Given the description of an element on the screen output the (x, y) to click on. 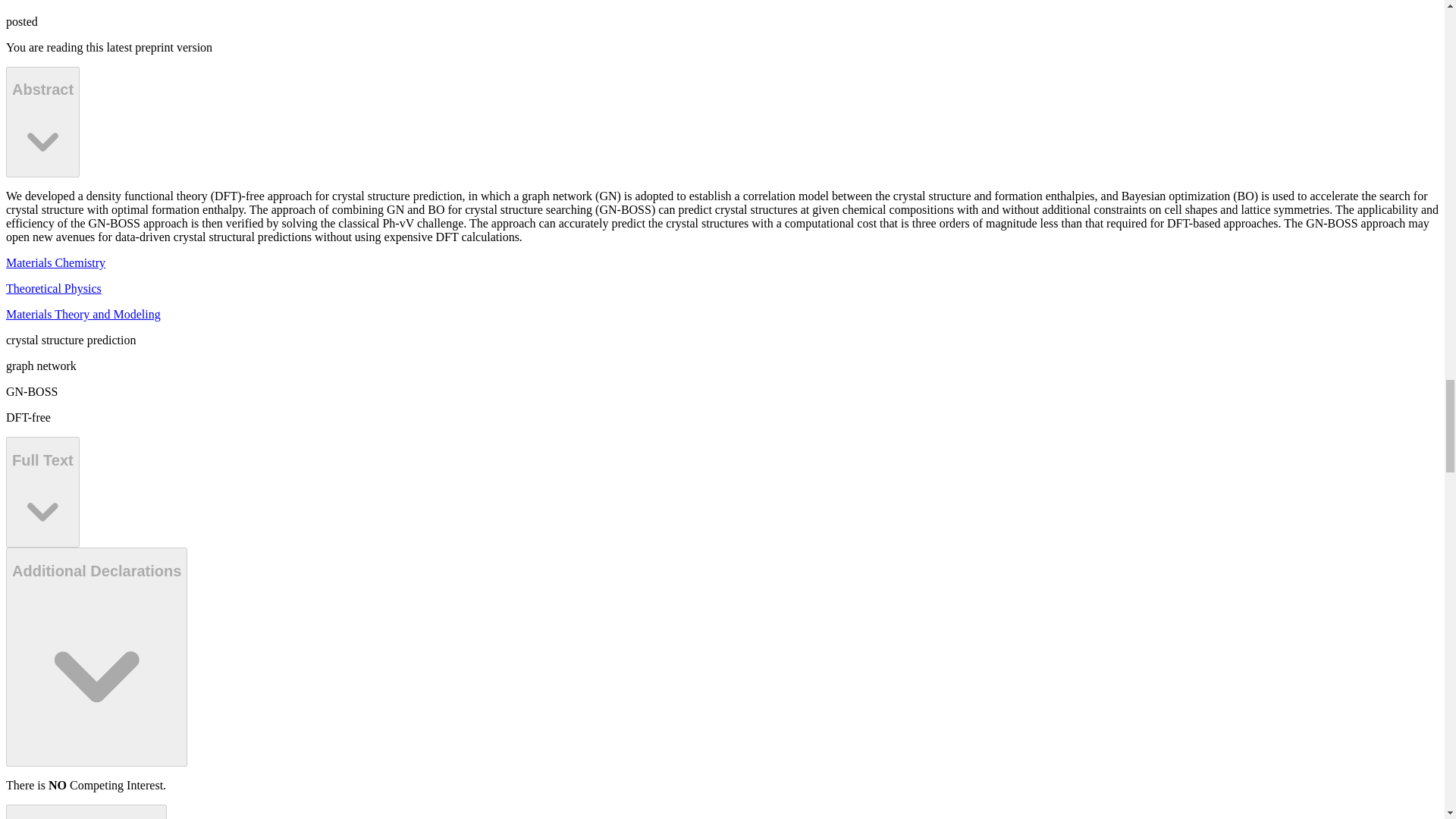
Supplementary Files (86, 811)
Theoretical Physics (53, 287)
Materials Chemistry (54, 262)
Additional Declarations (96, 656)
Full Text (42, 491)
Materials Theory and Modeling (82, 314)
Abstract (42, 121)
